Given the description of an element on the screen output the (x, y) to click on. 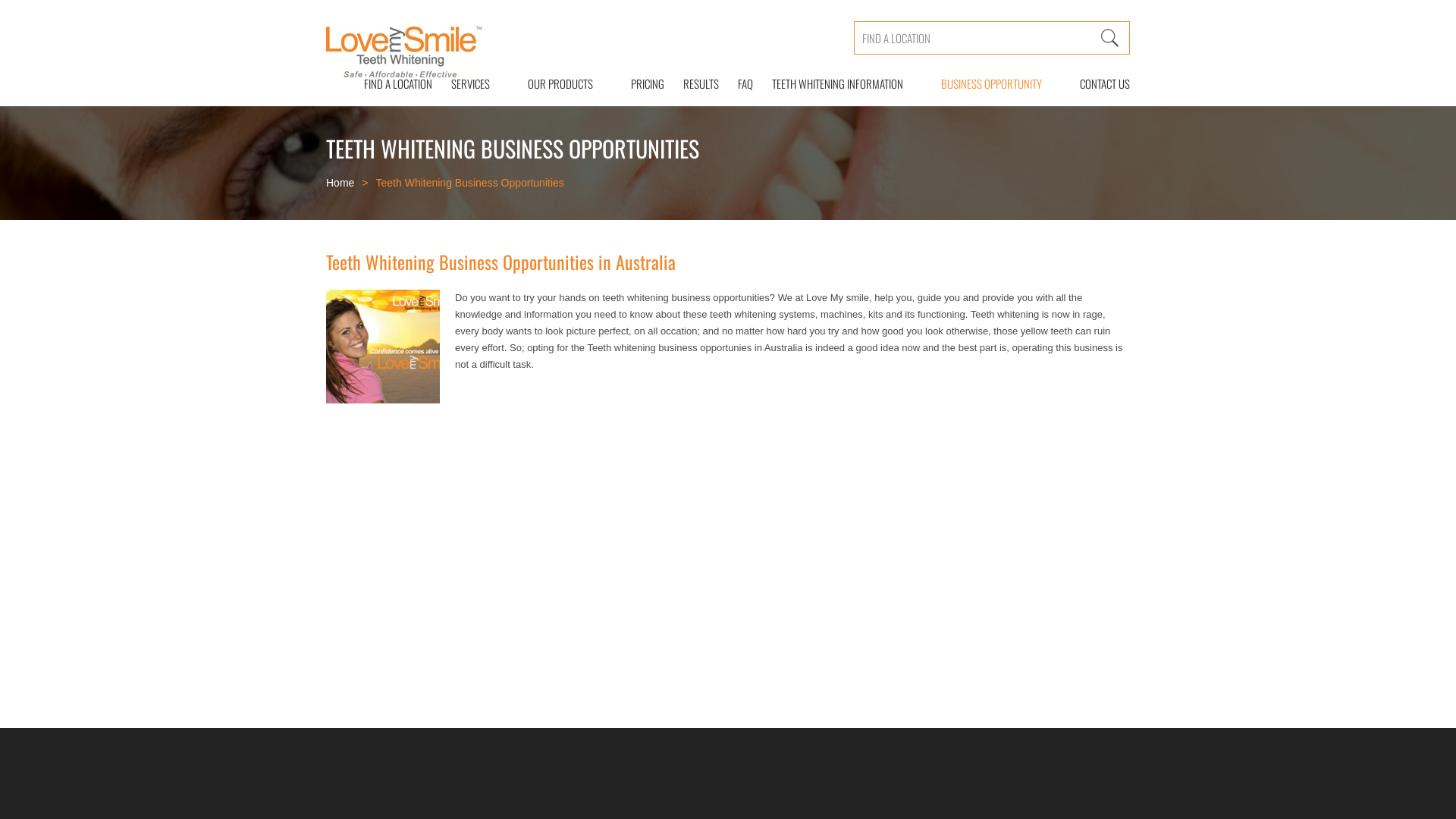
CONTACT US Element type: text (1094, 83)
SERVICES Element type: text (470, 83)
RESULTS Element type: text (691, 83)
Home Element type: text (340, 182)
PRICING Element type: text (637, 83)
TEETH WHITENING INFORMATION Element type: text (837, 83)
BUSINESS OPPORTUNITY Element type: text (991, 83)
Search Element type: text (1109, 37)
FIND A LOCATION Element type: text (388, 83)
FAQ Element type: text (735, 83)
OUR PRODUCTS Element type: text (559, 83)
